Given the description of an element on the screen output the (x, y) to click on. 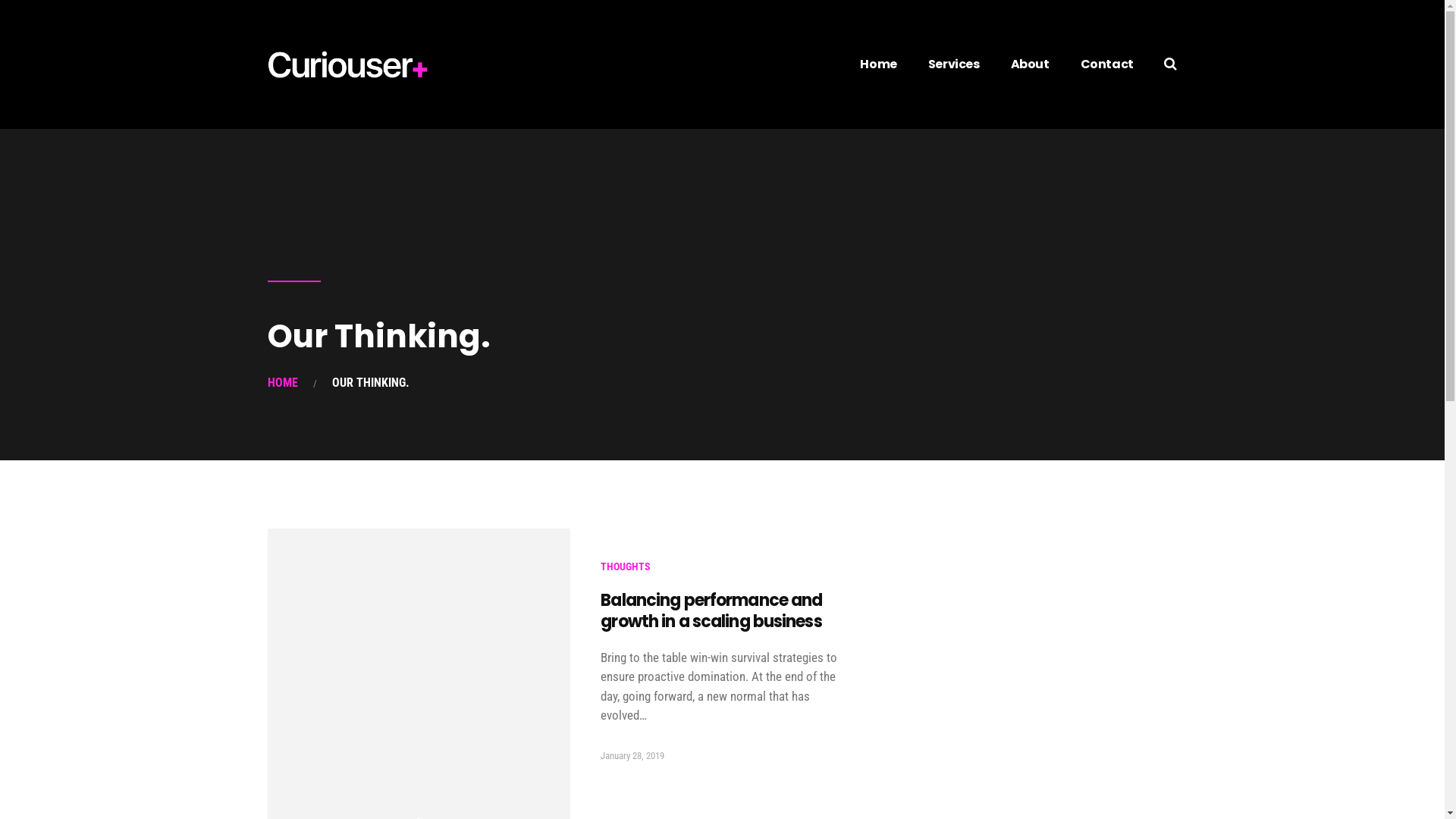
About Element type: text (1029, 64)
Home Element type: text (877, 64)
Contact Element type: text (1106, 64)
HOME Element type: text (281, 381)
THOUGHTS Element type: text (625, 565)
Services Element type: text (953, 64)
Balancing performance and growth in a scaling business Element type: text (711, 610)
